Given the description of an element on the screen output the (x, y) to click on. 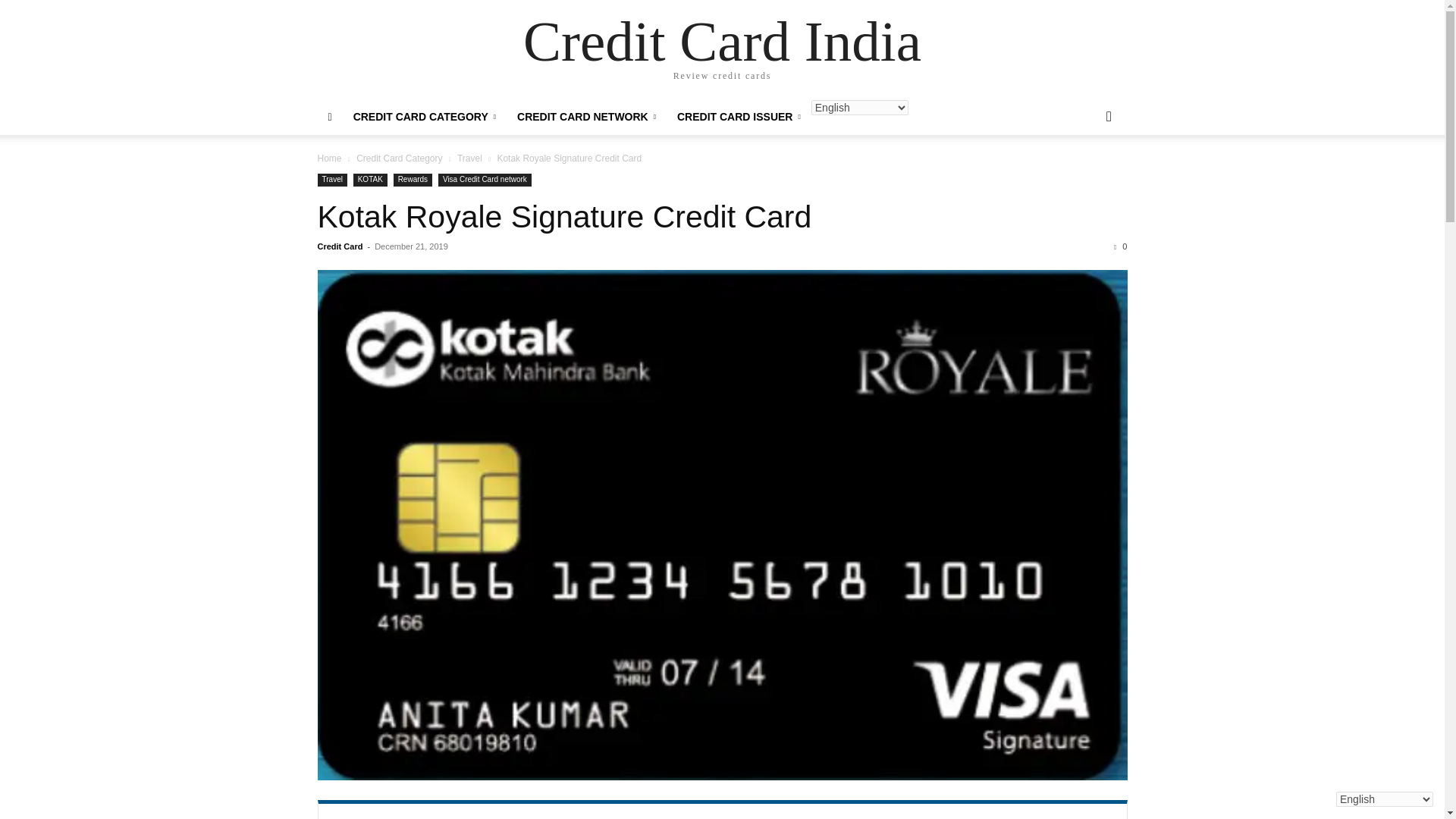
CREDIT CARD CATEGORY (424, 116)
View all posts in Travel (469, 158)
Kotak Royale Signature Credit Card (563, 216)
CREDIT CARD NETWORK (586, 116)
Credit Card India (721, 41)
View all posts in Credit Card Category (399, 158)
